Given the description of an element on the screen output the (x, y) to click on. 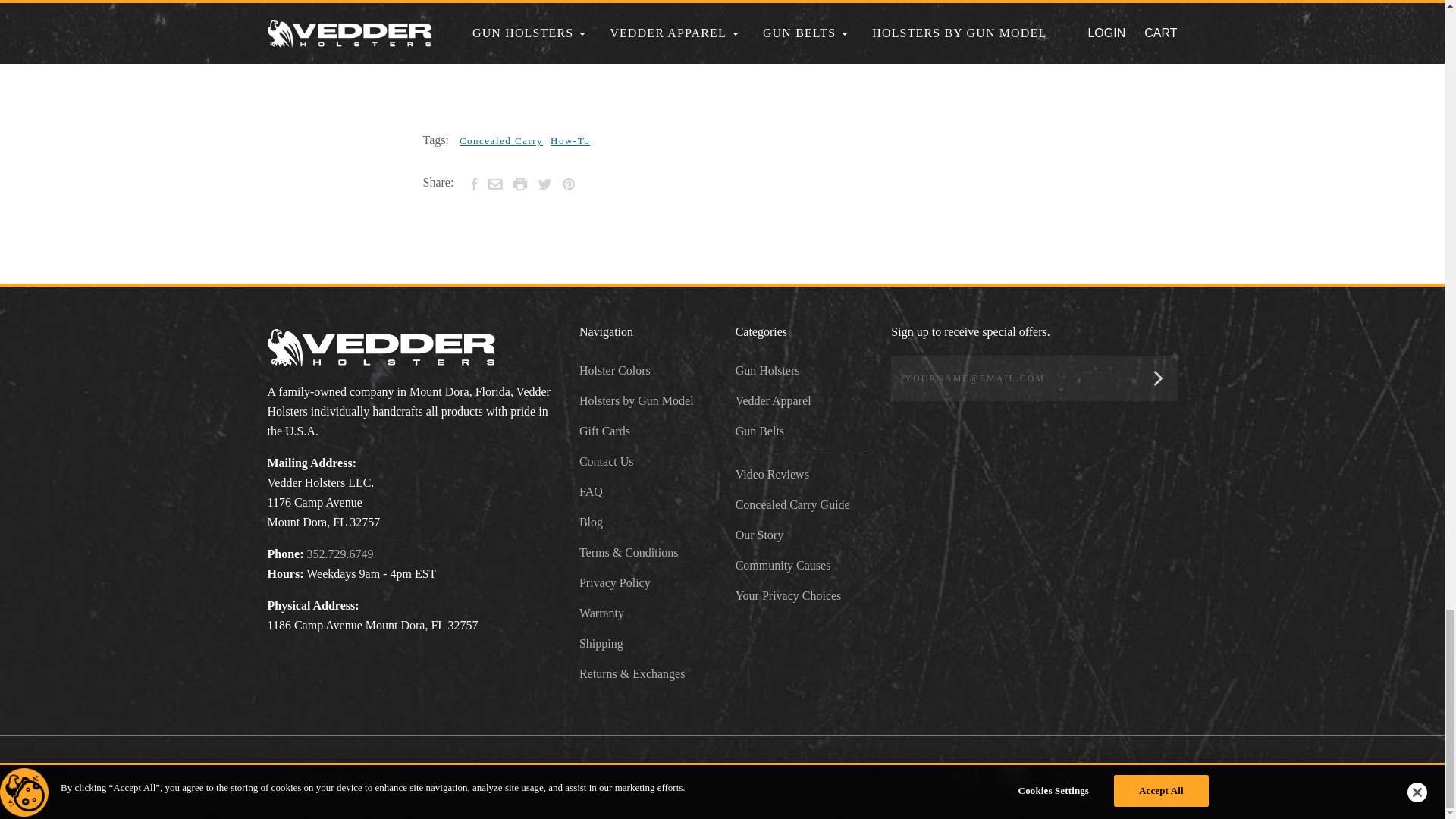
APPLE PAY (1161, 774)
email (494, 184)
printer (520, 184)
twitter (544, 184)
pinterest (568, 184)
